Given the description of an element on the screen output the (x, y) to click on. 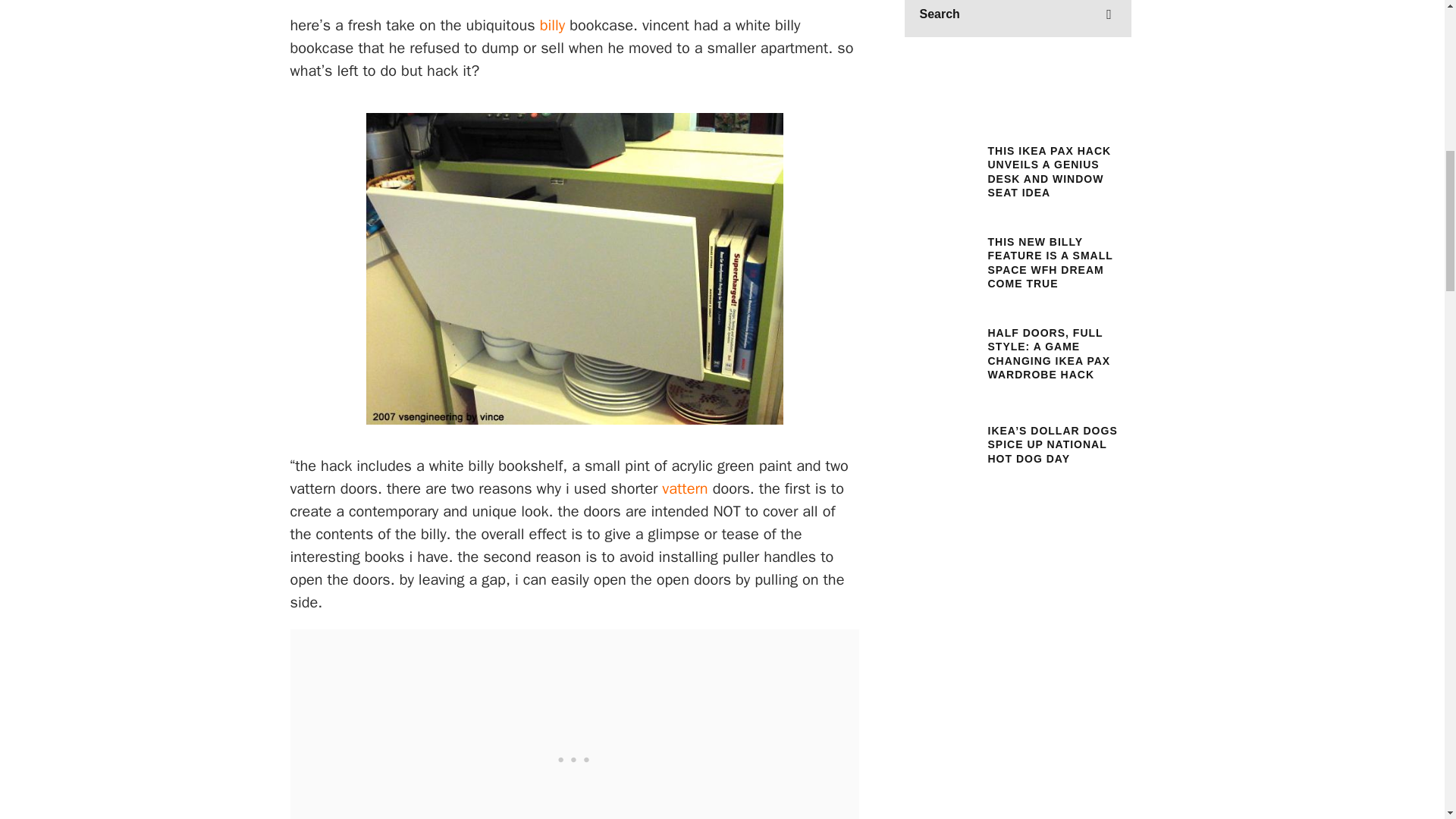
peek-a-boo billy 1 (721, 32)
billy (553, 25)
vattern (684, 488)
